Given the description of an element on the screen output the (x, y) to click on. 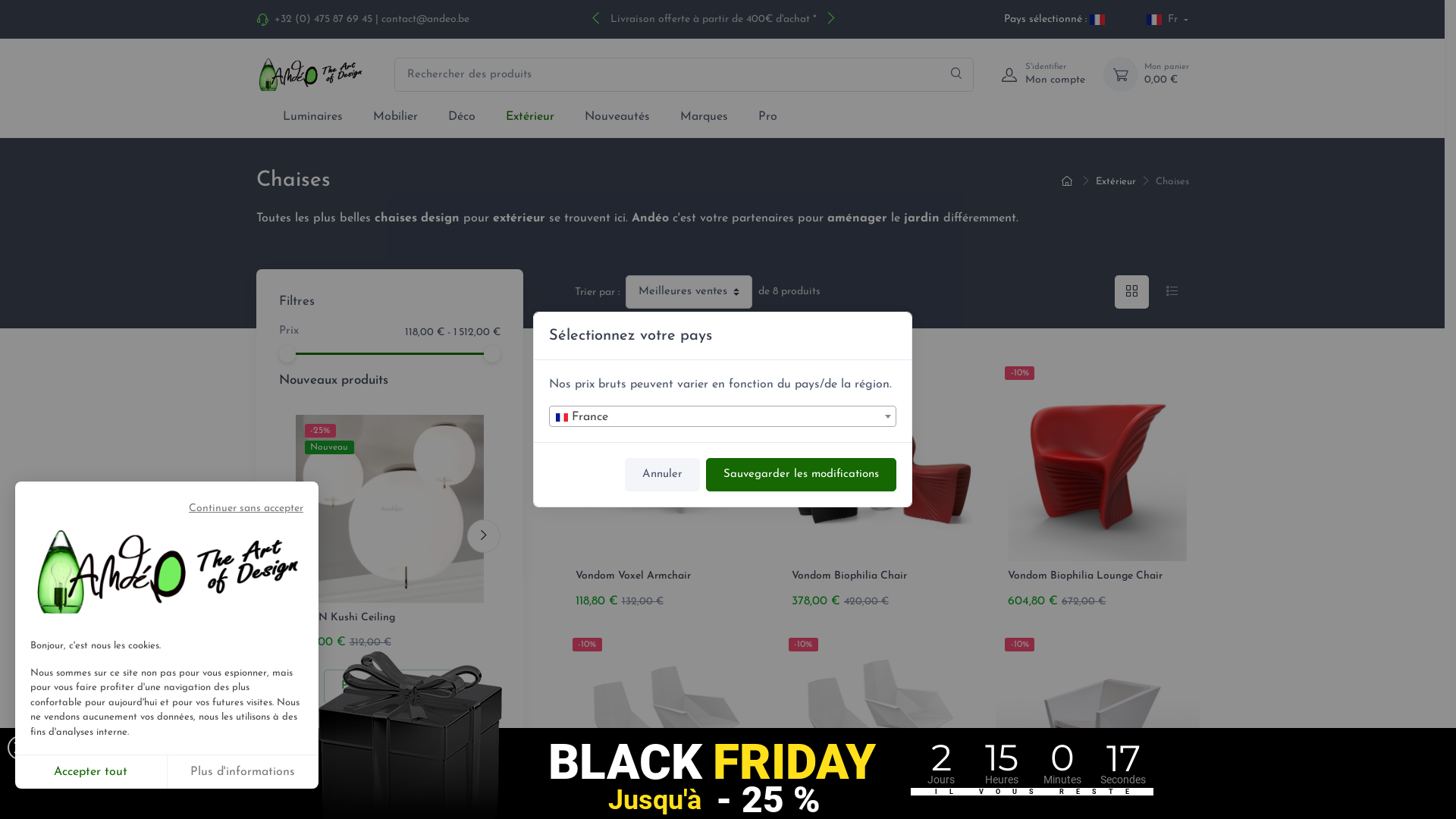
Plus de produits Element type: text (389, 686)
Marques Element type: text (703, 116)
Luminaires Element type: text (311, 116)
Accepter tout Element type: text (91, 771)
Pro Element type: text (767, 116)
Vondom Biophilia Lounge Chair Element type: text (1084, 575)
Annuler Element type: text (661, 475)
contact@andeo.be Element type: text (424, 19)
Mobilier Element type: text (395, 116)
+32 (0) 475 87 69 45 Element type: text (323, 19)
Continuer sans accepter Element type: text (166, 512)
Vondom Voxel Armchair Element type: text (632, 575)
Plus d'informations Element type: text (242, 771)
KDLN Kushi Ceiling Element type: text (345, 617)
Sauvegarder les modifications Element type: text (800, 475)
Vondom Biophilia Chair Element type: text (848, 575)
Fr Element type: text (1167, 19)
S'identifier
Mon compte Element type: text (1038, 73)
